Given the description of an element on the screen output the (x, y) to click on. 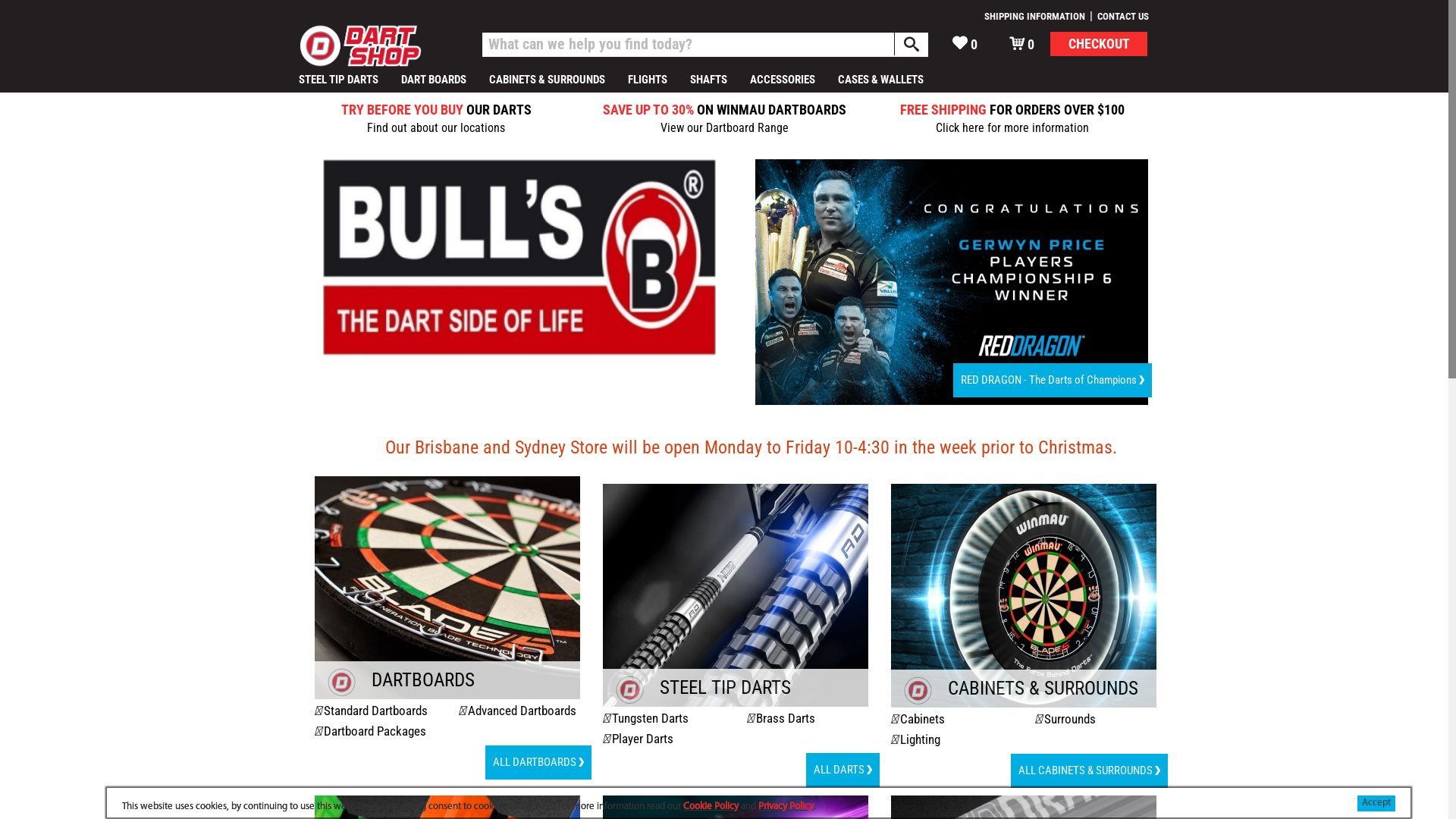
ALL
DARTS Element type: text (842, 770)
TRY BEFORE YOU BUY OUR DARTS
Find out about our locations Element type: text (435, 118)
DART BOARDS Element type: text (433, 79)
CHECKOUT Element type: text (1098, 43)
CASES & WALLETS Element type: text (880, 79)
0 Element type: text (964, 43)
ALL
DARTBOARDS Element type: text (538, 762)
Dart Shop Element type: text (381, 44)
Advanced Dartboards Element type: text (521, 710)
CABINETS & SURROUNDS Element type: text (1023, 688)
FLIGHTS Element type: text (647, 79)
Cookie Policy Element type: text (710, 806)
STEEL TIP DARTS Element type: text (735, 687)
ALL
CABINETS & SURROUNDS Element type: text (1088, 770)
CABINETS & SURROUNDS Element type: text (546, 79)
SHAFTS Element type: text (708, 79)
SAVE UP TO 30% ON WINMAU DARTBOARDS
View our Dartboard Range Element type: text (723, 118)
SHIPPING INFORMATION Element type: text (1034, 16)
Shop Dartboards Element type: hover (447, 663)
Shop Steel Tip Darts Element type: hover (735, 671)
Privacy Policy Element type: text (785, 806)
Surrounds Element type: text (1069, 718)
Player Darts Element type: text (642, 738)
0 Element type: text (1021, 43)
CONTACT US Element type: text (1122, 16)
Lighting Element type: text (920, 738)
RED DRAGON - The Darts of Champions Element type: text (1052, 380)
Tungsten Darts Element type: text (649, 717)
STEEL TIP DARTS Element type: text (338, 79)
Cabinets Element type: text (922, 718)
DARTBOARDS Element type: text (447, 680)
Accept Element type: text (1376, 803)
ACCESSORIES Element type: text (782, 79)
Shop Red Dragon Darts Element type: hover (951, 280)
Dartboard Packages Element type: text (374, 730)
Brass Darts Element type: text (785, 717)
Standard Dartboards Element type: text (375, 710)
Shop Cabinets and Surrounds Element type: hover (1023, 672)
